Given the description of an element on the screen output the (x, y) to click on. 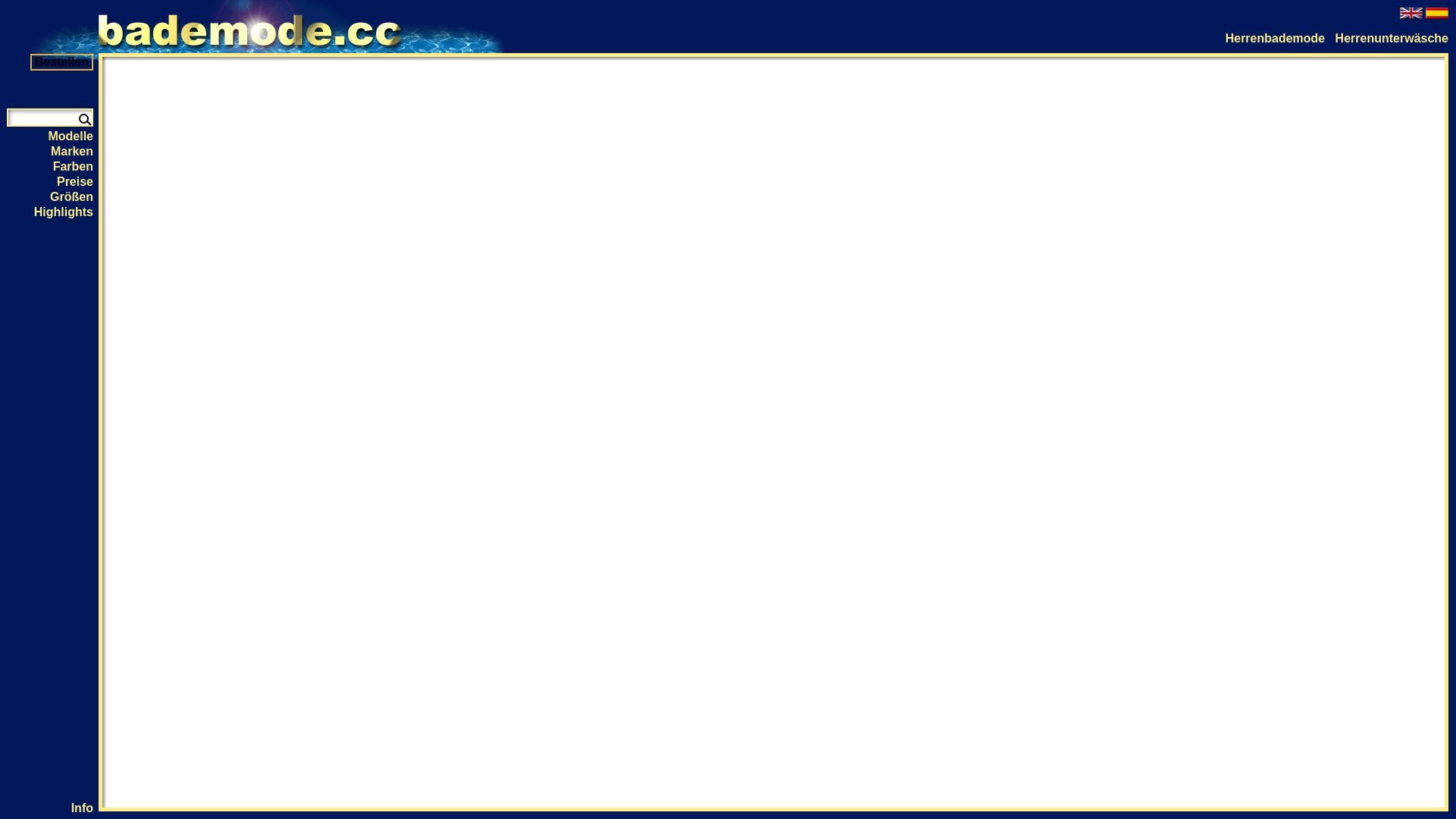
Herrenbademode Element type: text (1275, 37)
English Element type: hover (1410, 12)
Nach EAN, Artikelnummer, Marke oder Text suchen Element type: hover (83, 118)
Info Element type: text (82, 807)
